Given the description of an element on the screen output the (x, y) to click on. 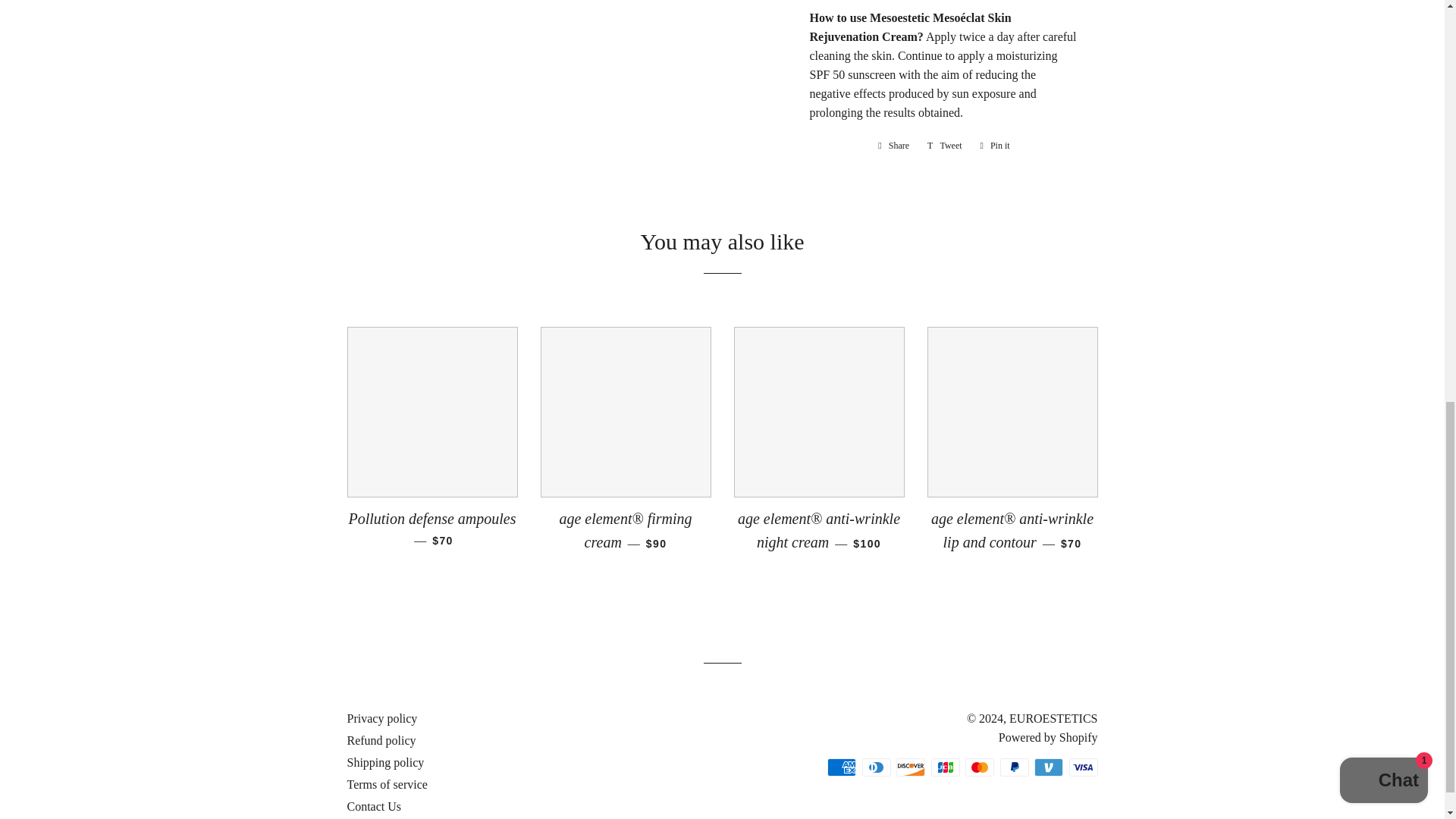
Pin on Pinterest (994, 145)
PayPal (994, 145)
American Express (1012, 767)
Mastercard (893, 145)
JCB (841, 767)
Venmo (979, 767)
Diners Club (945, 767)
Visa (1047, 767)
Share on Facebook (944, 145)
Discover (875, 767)
Tweet on Twitter (1082, 767)
